Given the description of an element on the screen output the (x, y) to click on. 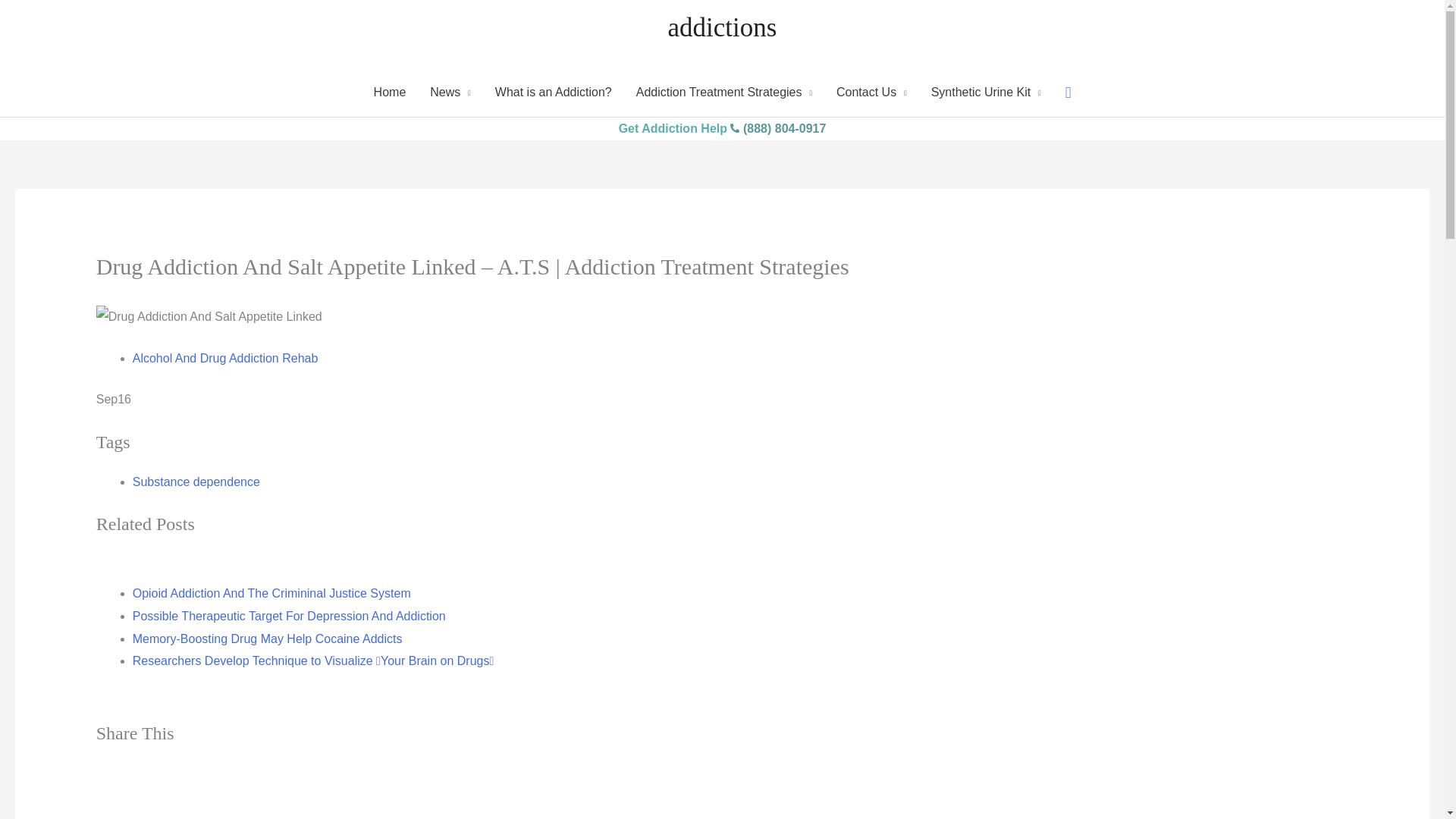
Possible Therapeutic Target For Depression And Addiction (288, 615)
Contact Us (871, 92)
Home (390, 92)
View all posts in Alcohol And Drug Addiction Rehab (225, 358)
Synthetic Urine Kit (985, 92)
News (450, 92)
Substance dependence (196, 481)
addictions (722, 27)
Alcohol And Drug Addiction Rehab (225, 358)
Addiction Treatment Strategies (724, 92)
